Given the description of an element on the screen output the (x, y) to click on. 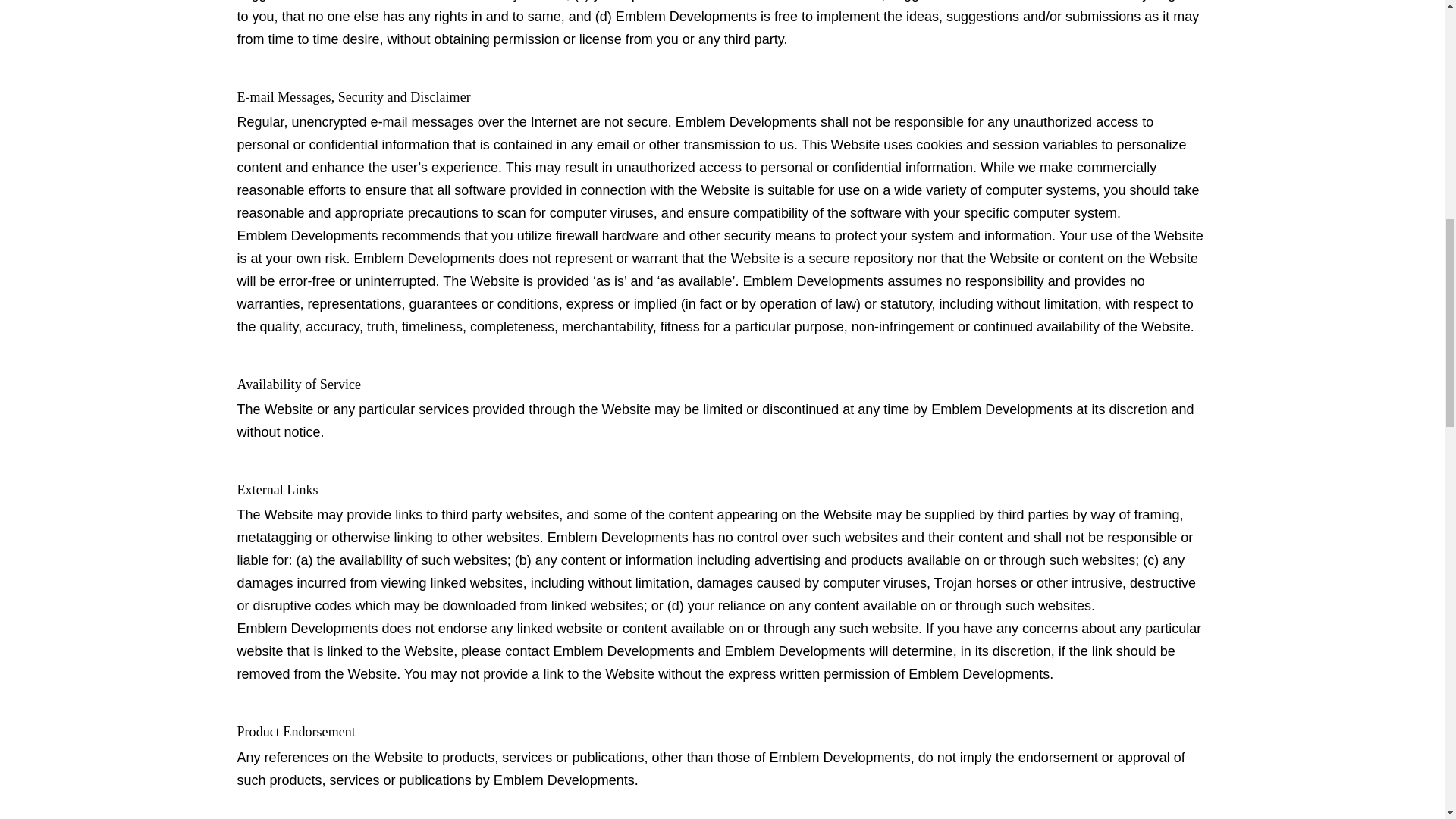
Emblem Developments (812, 281)
Emblem Developments (306, 628)
Emblem Developments (1001, 409)
Emblem Developments (978, 673)
Emblem Developments (623, 650)
Emblem Developments (563, 780)
Emblem Developments (424, 258)
Emblem Developments (617, 537)
Emblem Developments (745, 121)
Emblem Developments (306, 235)
Emblem Developments (686, 15)
